Given the description of an element on the screen output the (x, y) to click on. 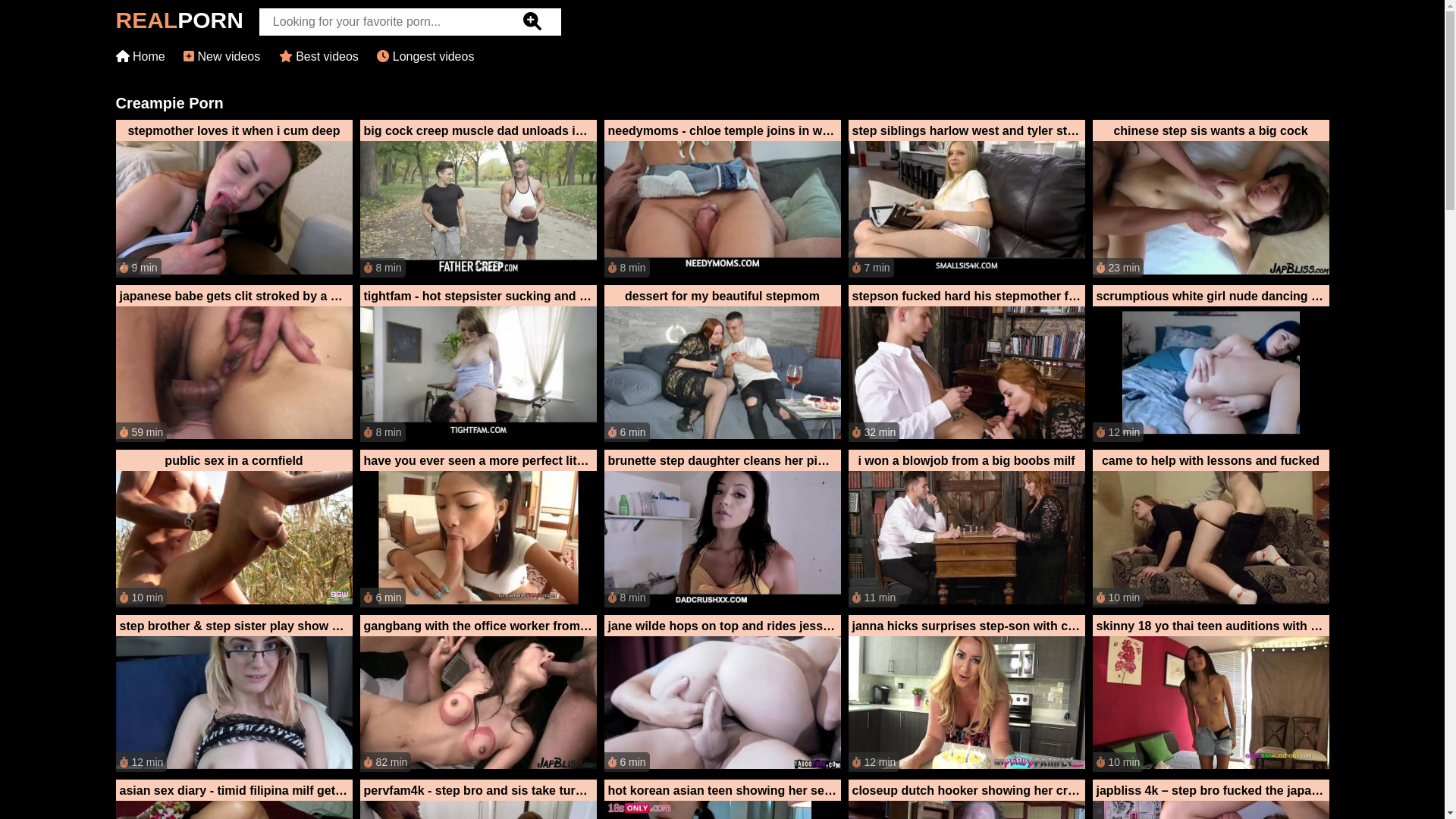
10 min
skinny 18 yo thai teen auditions with slimy manager Element type: text (1210, 692)
10 min
came to help with lessons and fucked Element type: text (1210, 528)
82 min
gangbang with the office worker from tokyo, japan Element type: text (477, 692)
10 min
public sex in a cornfield Element type: text (233, 528)
New videos Element type: text (221, 56)
12 min
scrumptious white girl nude dancing so nice Element type: text (1210, 363)
23 min
chinese step sis wants a big cock Element type: text (1210, 198)
6 min
have you ever seen a more perfect little ass? Element type: text (477, 528)
Best videos Element type: text (318, 56)
Home Element type: text (139, 56)
REALPORN Element type: text (178, 24)
Longest videos Element type: text (424, 56)
32 min
stepson fucked hard his stepmother for half an hour Element type: text (965, 363)
6 min
dessert for my beautiful stepmom Element type: text (721, 363)
9 min
stepmother loves it when i cum deep Element type: text (233, 198)
11 min
i won a blowjob from a big boobs milf Element type: text (965, 528)
